Given the description of an element on the screen output the (x, y) to click on. 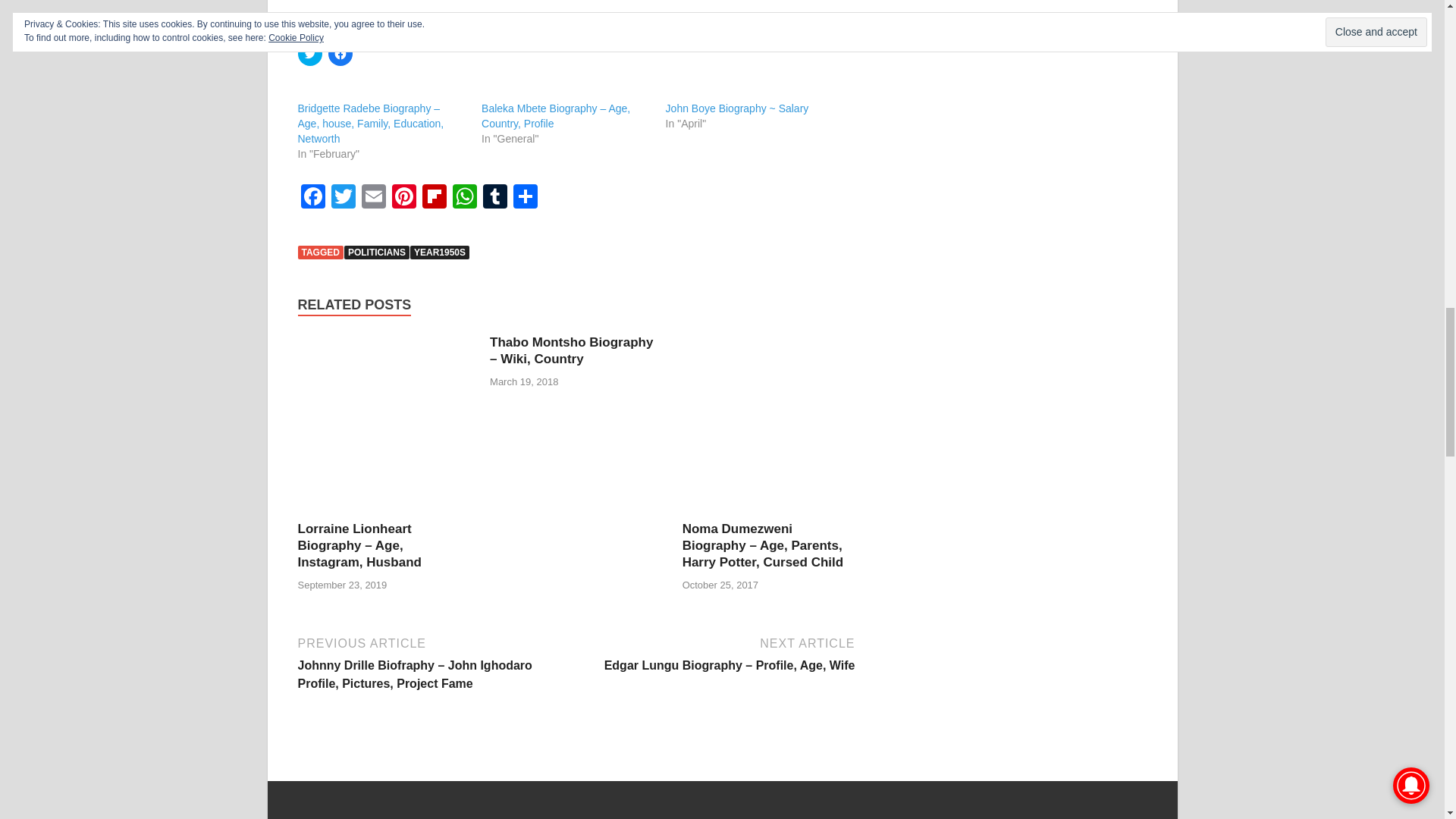
Facebook (312, 198)
Click to share on Twitter (309, 53)
Flipboard (433, 198)
Email (373, 198)
WhatsApp (463, 198)
Twitter (342, 198)
Pinterest (403, 198)
Click to share on Facebook (339, 53)
Tumblr (494, 198)
